Given the description of an element on the screen output the (x, y) to click on. 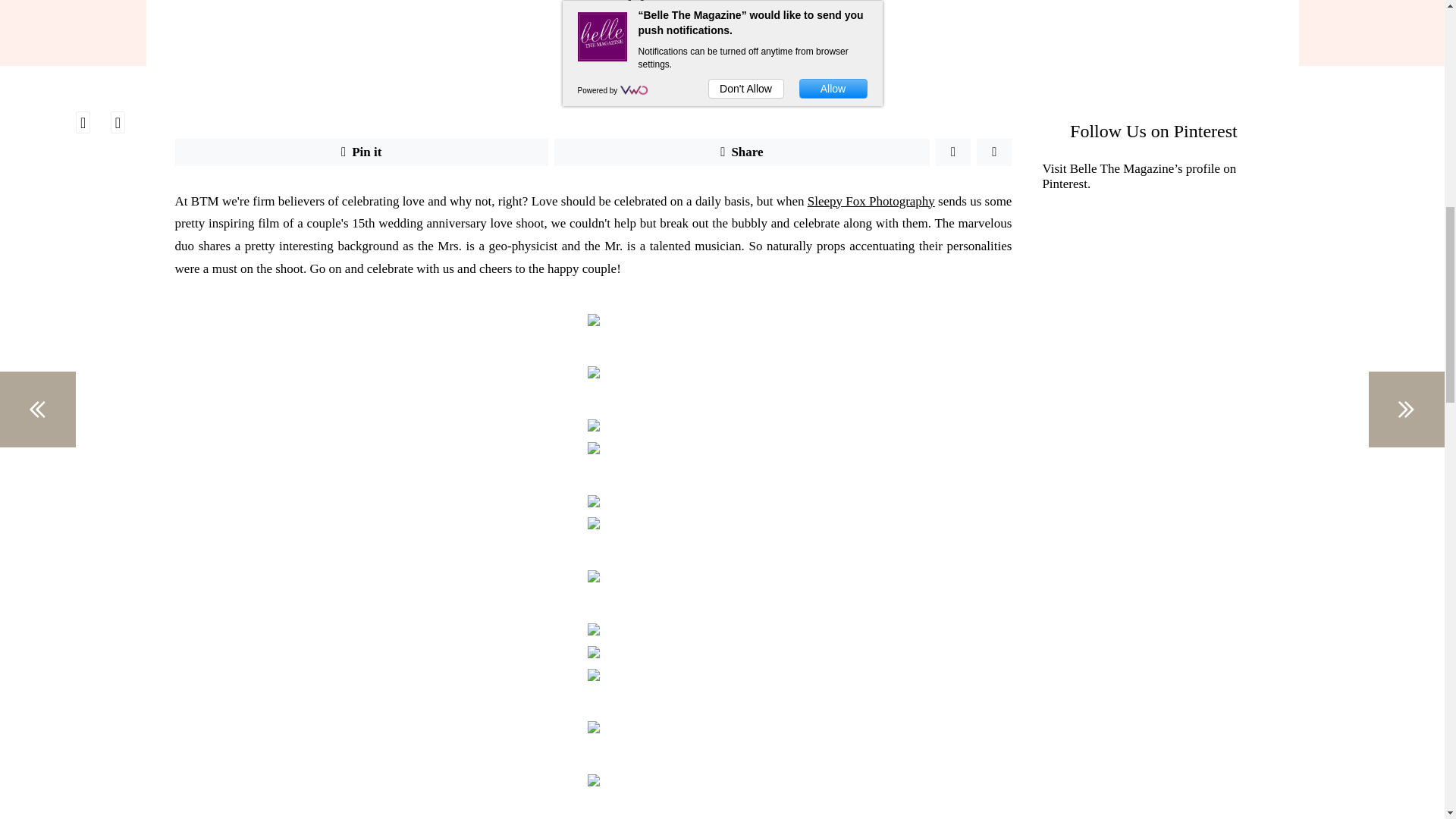
Sleepy Fox Photography (871, 201)
Pin it (361, 152)
Share (742, 152)
